Given the description of an element on the screen output the (x, y) to click on. 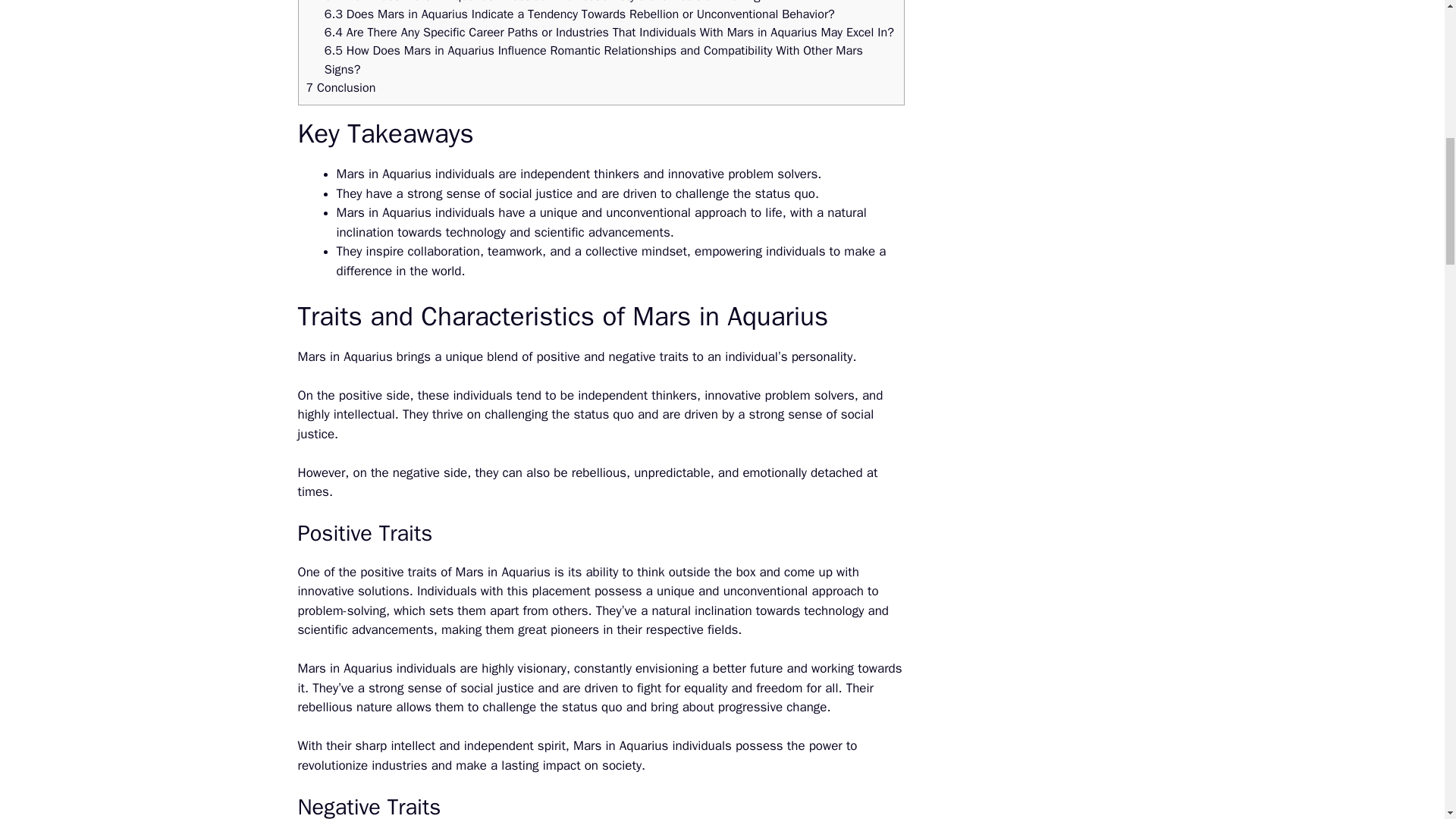
7 Conclusion (340, 87)
Scroll back to top (1406, 720)
